Given the description of an element on the screen output the (x, y) to click on. 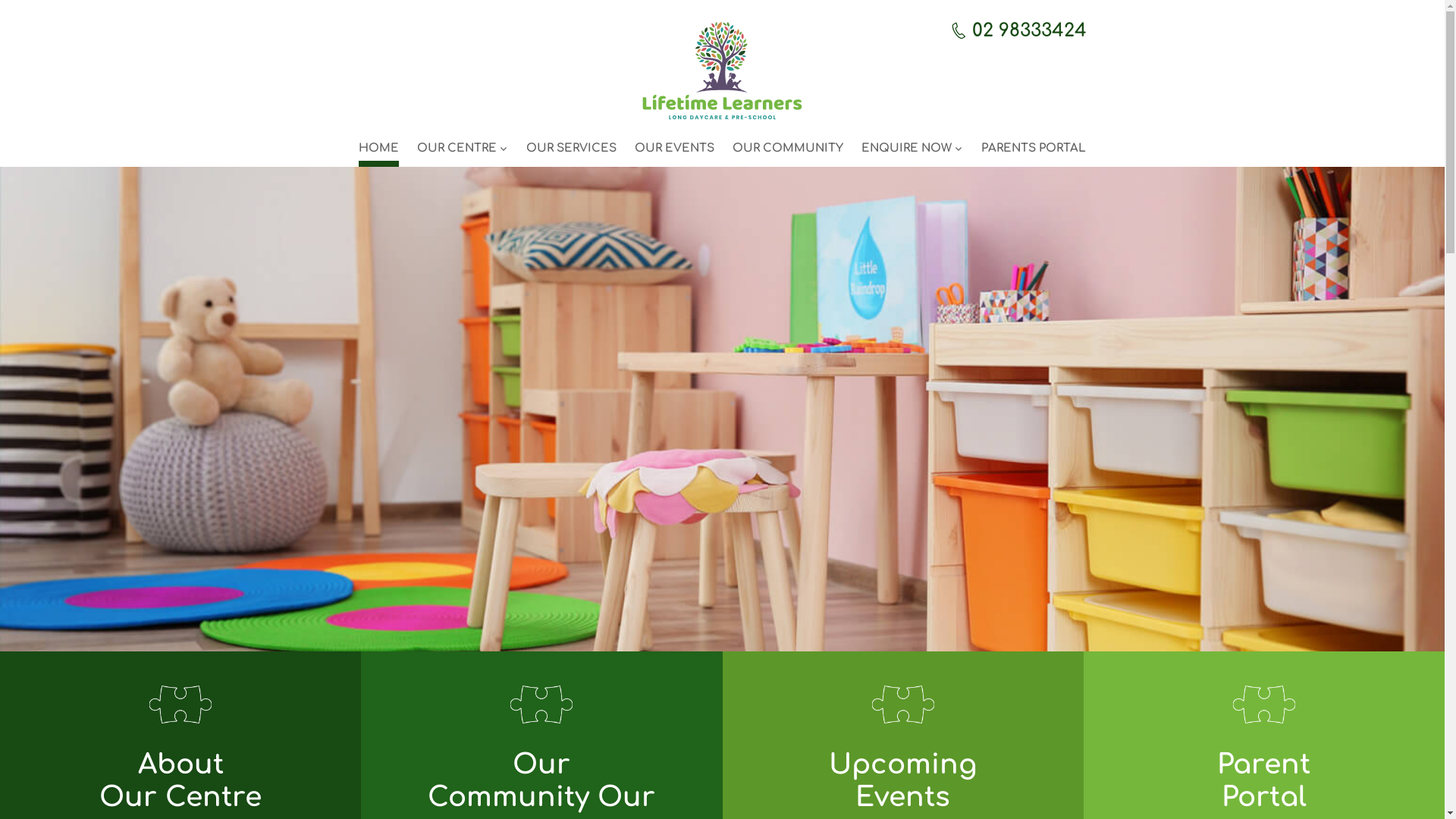
OUR CENTRE Element type: text (462, 150)
ENQUIRE NOW Element type: text (912, 150)
PARENTS PORTAL Element type: text (1033, 150)
02 98333424 Element type: text (1015, 29)
OUR EVENTS Element type: text (674, 150)
HOME Element type: text (377, 150)
OUR SERVICES Element type: text (571, 150)
OUR COMMUNITY Element type: text (787, 150)
